Given the description of an element on the screen output the (x, y) to click on. 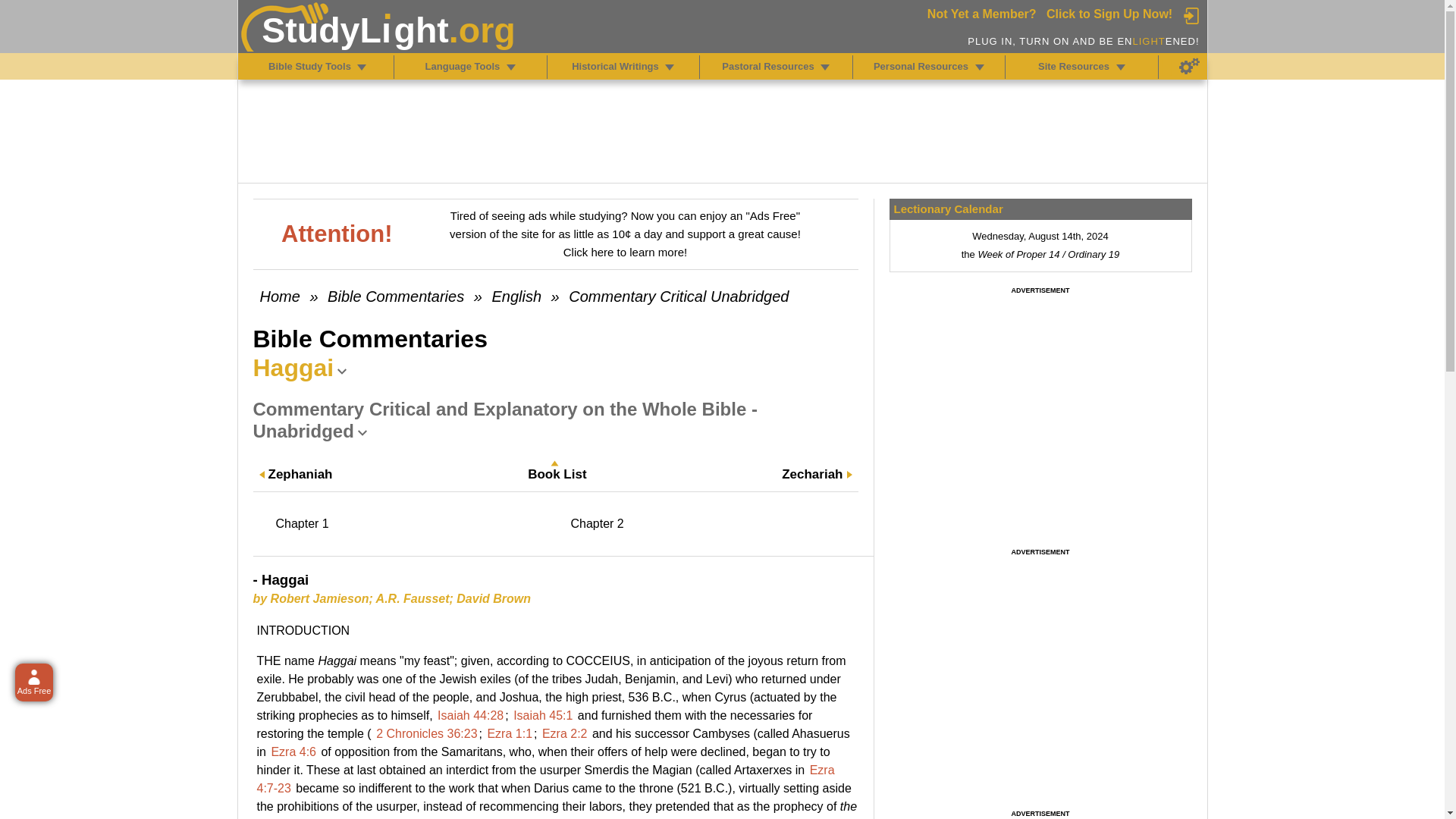
Zephaniah (300, 475)
Zechariah (812, 475)
Chapter 2 (710, 523)
Site Resources (1120, 67)
Click here to learn more! (625, 251)
Home (279, 296)
Bible Commentaries (395, 296)
Bible Study Tools (361, 67)
Pastoral Resources (825, 67)
Chapter 1 (416, 523)
